Given the description of an element on the screen output the (x, y) to click on. 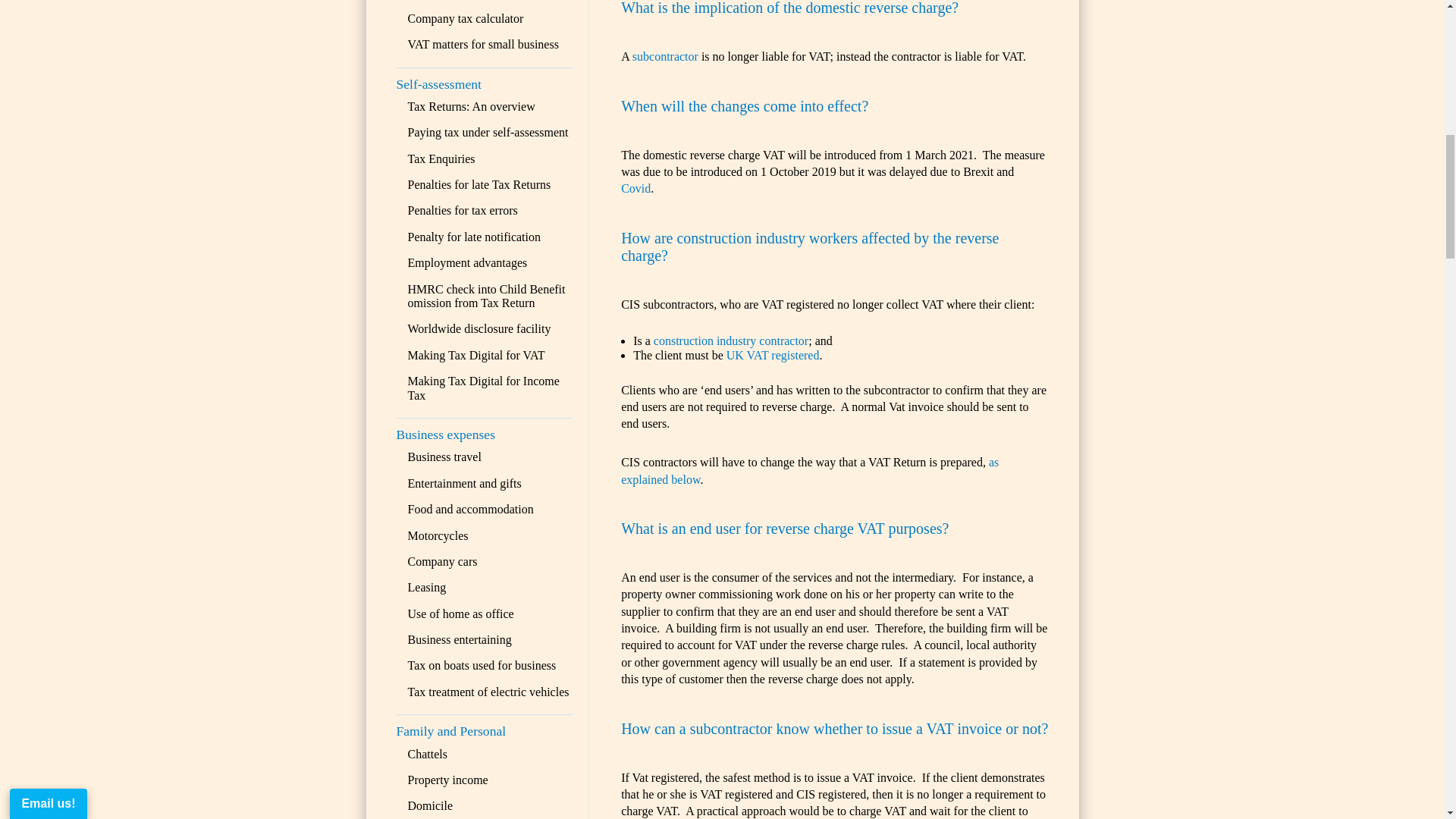
Self-assessment (438, 83)
VAT matters for small business (483, 43)
Tax Returns: An overview (471, 106)
Company tax calculator (465, 18)
